Given the description of an element on the screen output the (x, y) to click on. 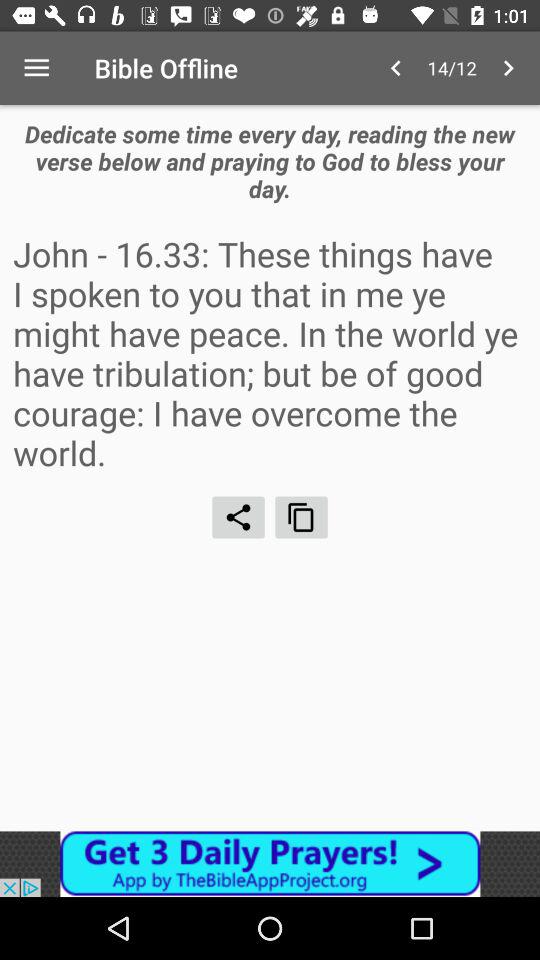
copy it (301, 517)
